Given the description of an element on the screen output the (x, y) to click on. 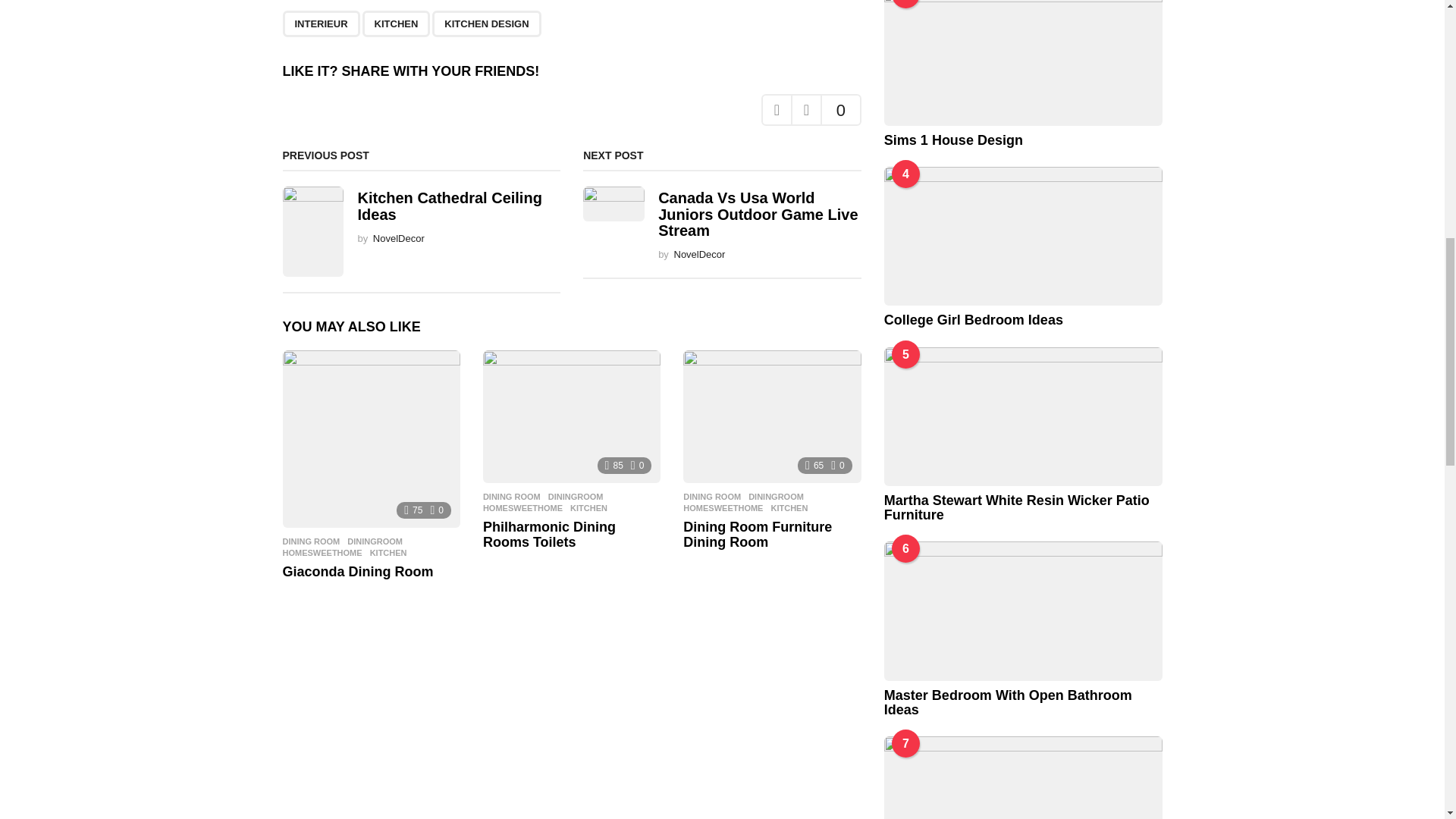
Philharmonic Dining Rooms Toilets (572, 417)
Martha Stewart White Resin Wicker Patio Furniture (1022, 416)
College Girl Bedroom Ideas (1022, 236)
Beadboard Cabinets Kitchen Ideas (1022, 777)
Sims 1 House Design (1022, 62)
Master Bedroom With Open Bathroom Ideas (1022, 610)
Dining Room Furniture Dining Room (771, 417)
Giaconda Dining Room (371, 438)
